Given the description of an element on the screen output the (x, y) to click on. 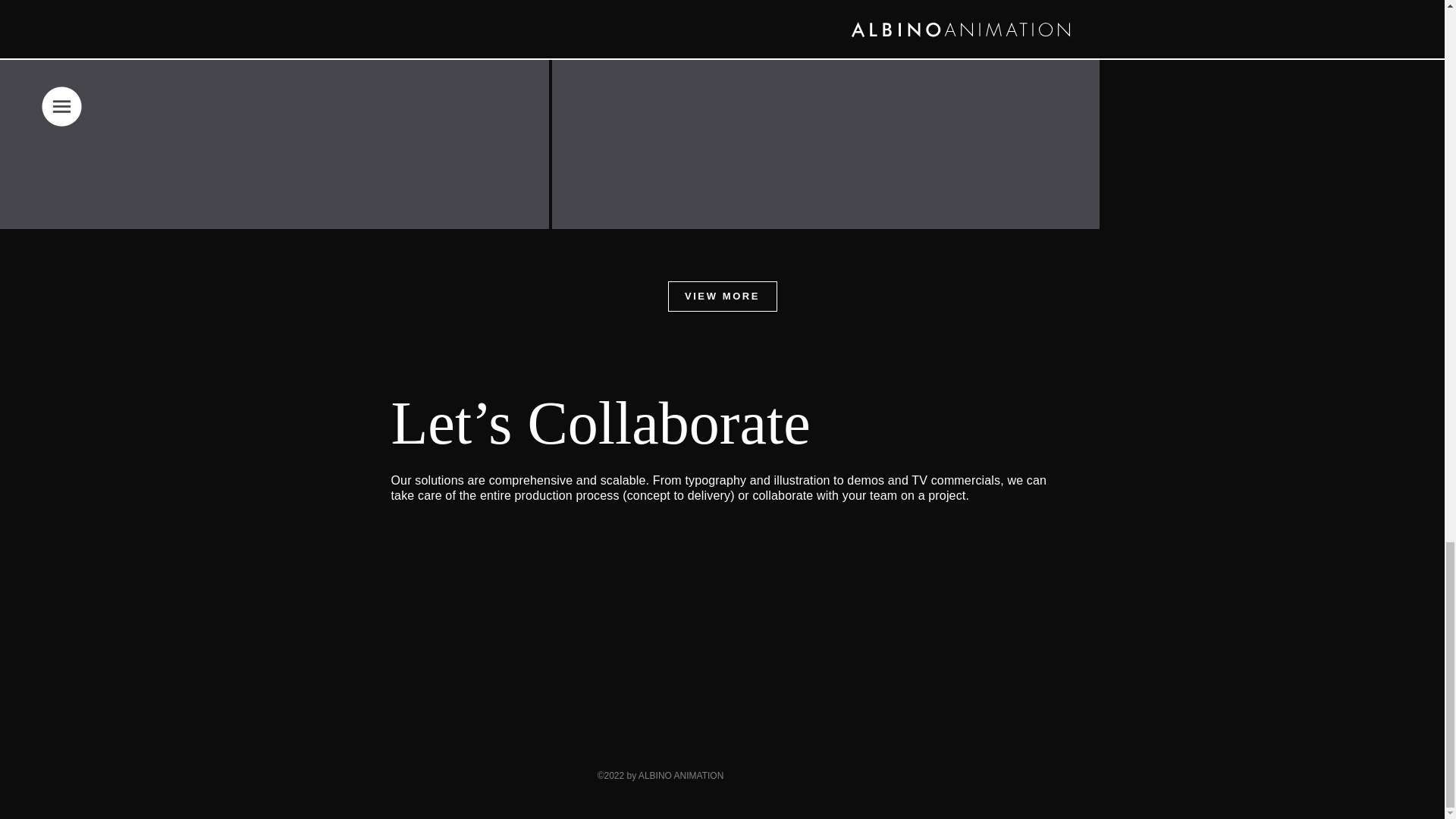
VIEW MORE (721, 296)
